Given the description of an element on the screen output the (x, y) to click on. 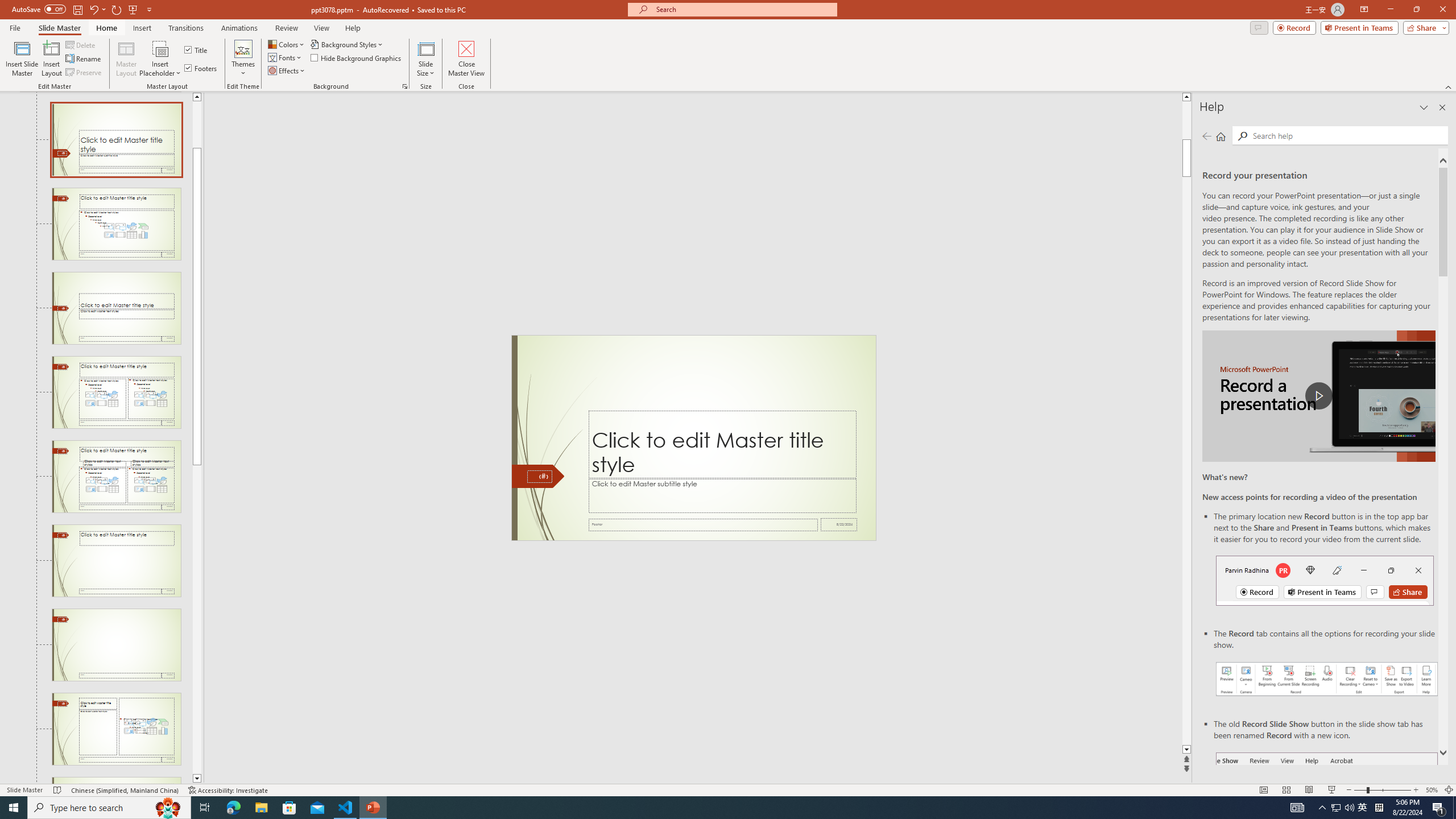
Previous page (1206, 136)
Freeform 6 (538, 476)
Preserve (84, 72)
